Given the description of an element on the screen output the (x, y) to click on. 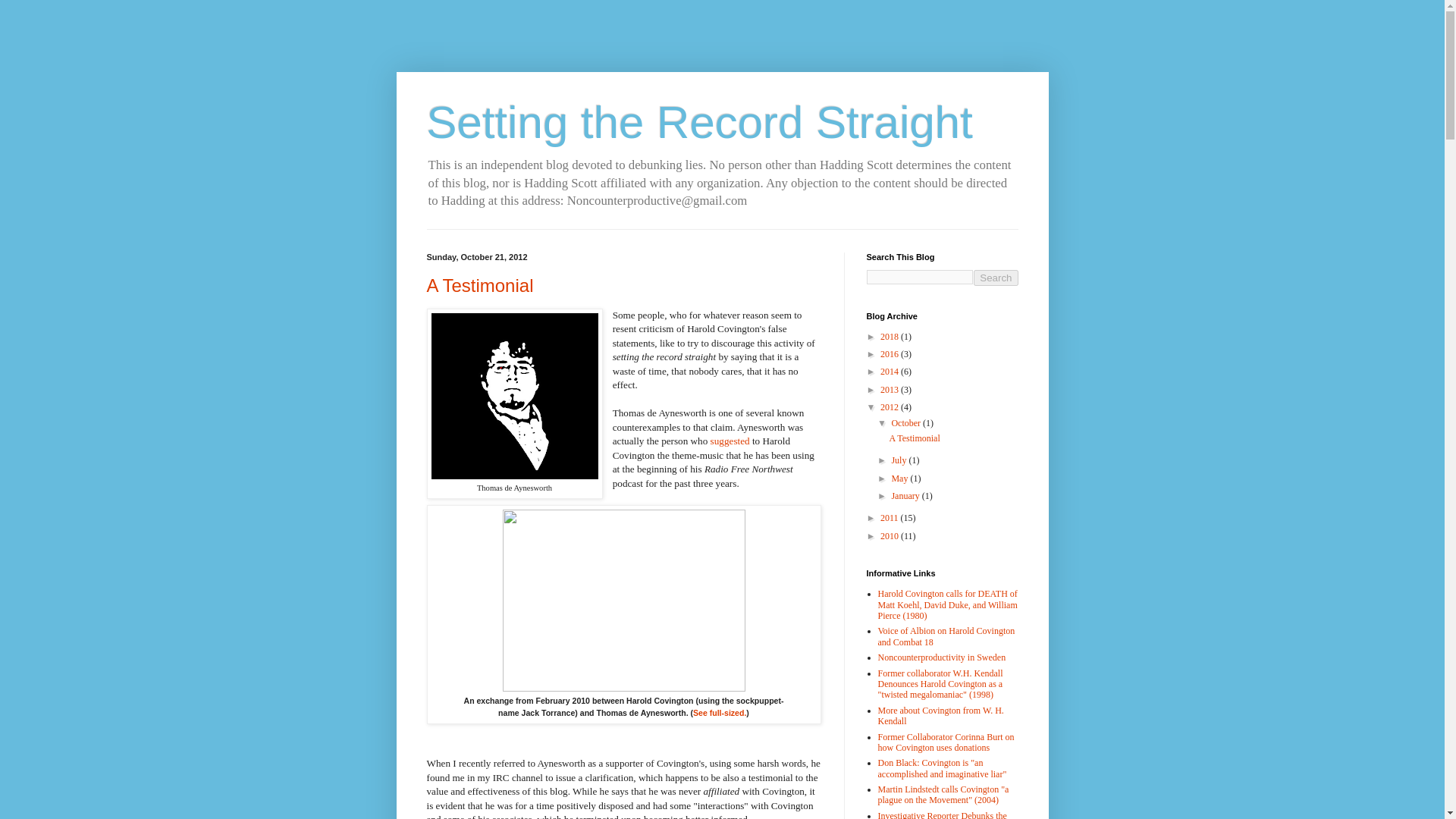
Setting the Record Straight (699, 122)
Search (995, 277)
See full-sized. (719, 712)
A Testimonial (479, 285)
Search (995, 277)
suggested (729, 440)
